Given the description of an element on the screen output the (x, y) to click on. 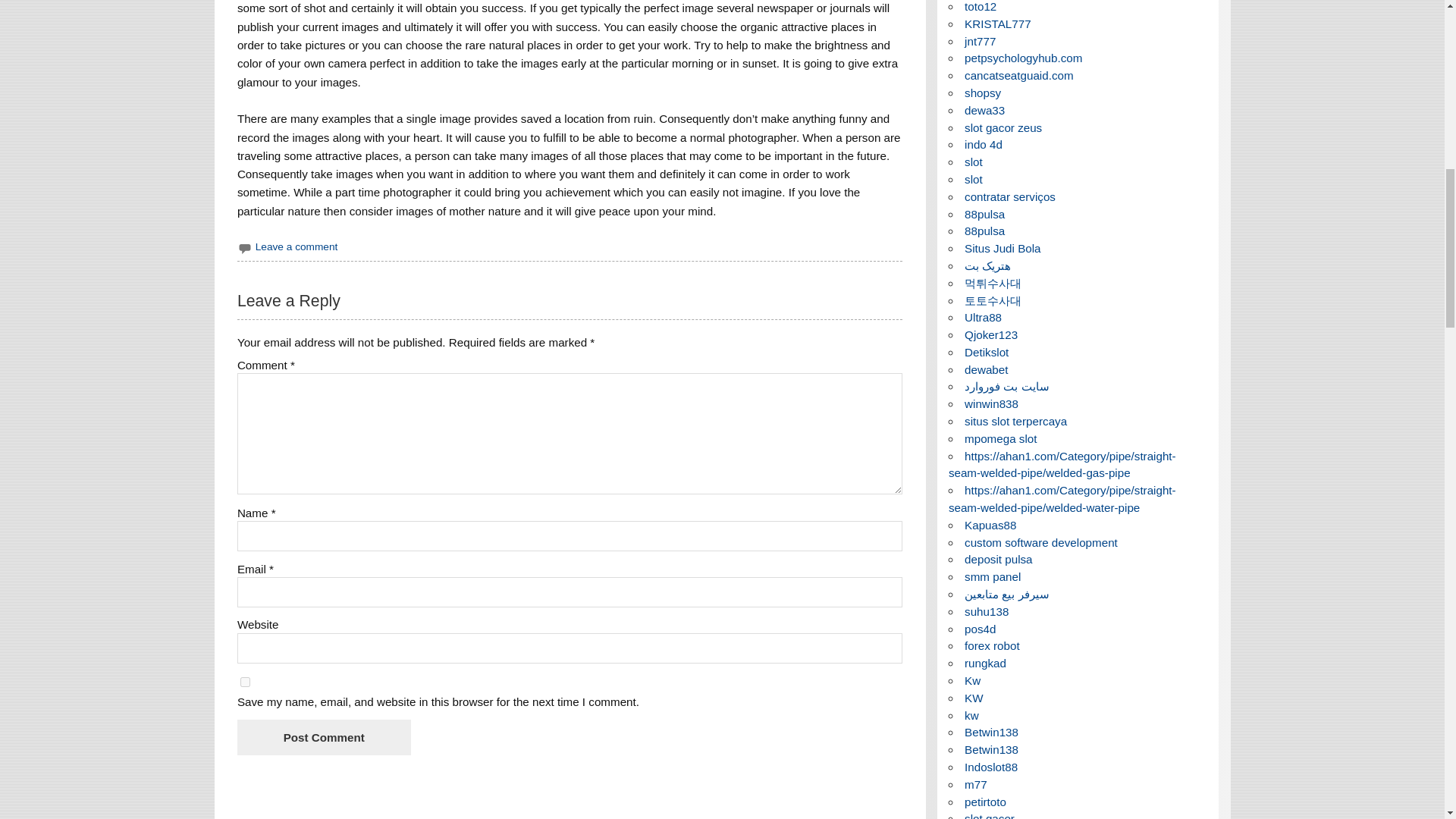
Post Comment (323, 737)
Post Comment (323, 737)
Leave a comment (296, 246)
yes (245, 682)
